Given the description of an element on the screen output the (x, y) to click on. 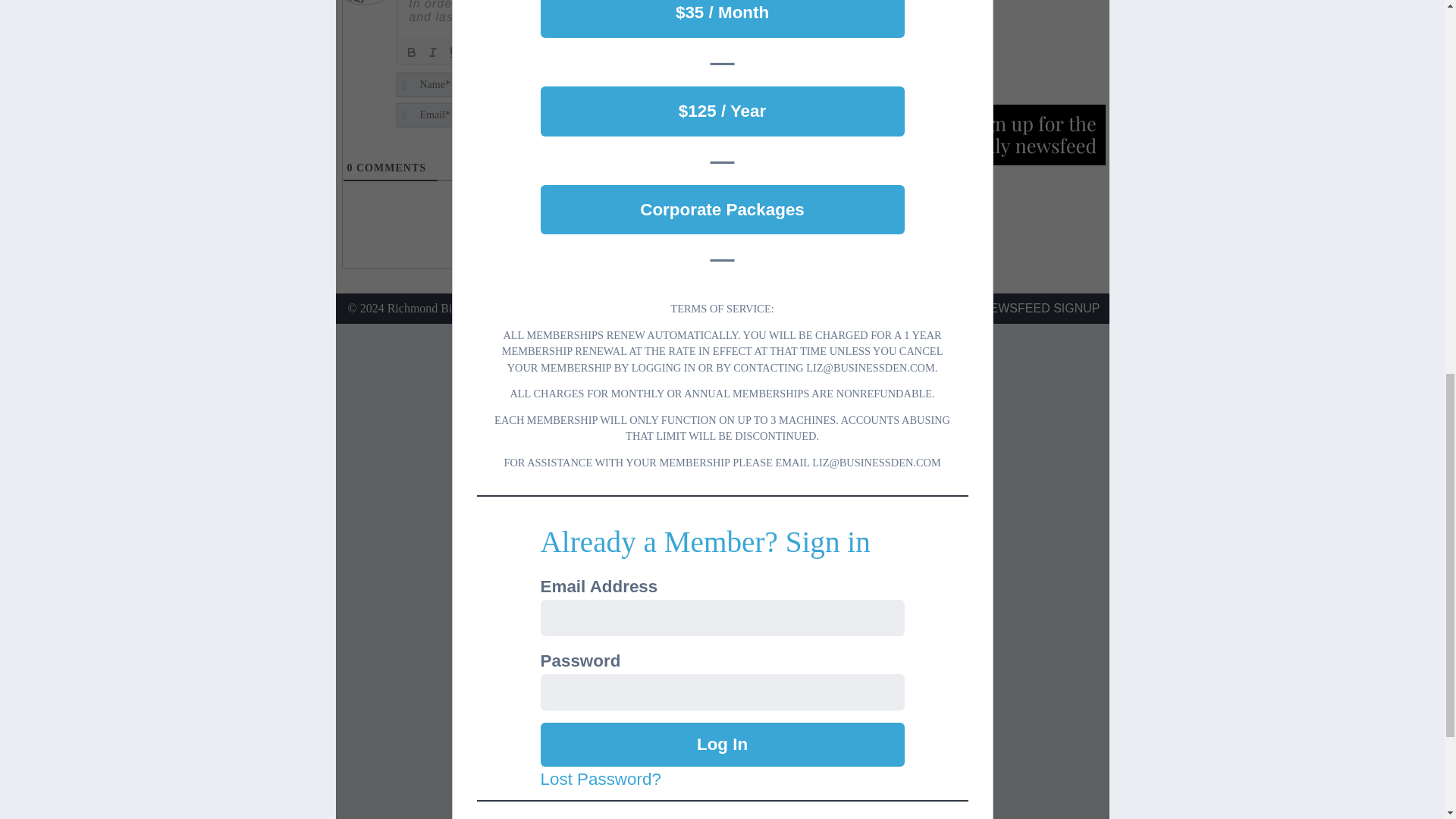
Italic (433, 52)
Source Code (601, 52)
Code Block (560, 52)
Link (581, 52)
Spoiler (622, 52)
Log In (722, 744)
Blockquote (539, 52)
Strike (475, 52)
Post Comment (811, 95)
Underline (454, 52)
Unordered List (517, 52)
Ordered List (496, 52)
Bold (411, 52)
